Given the description of an element on the screen output the (x, y) to click on. 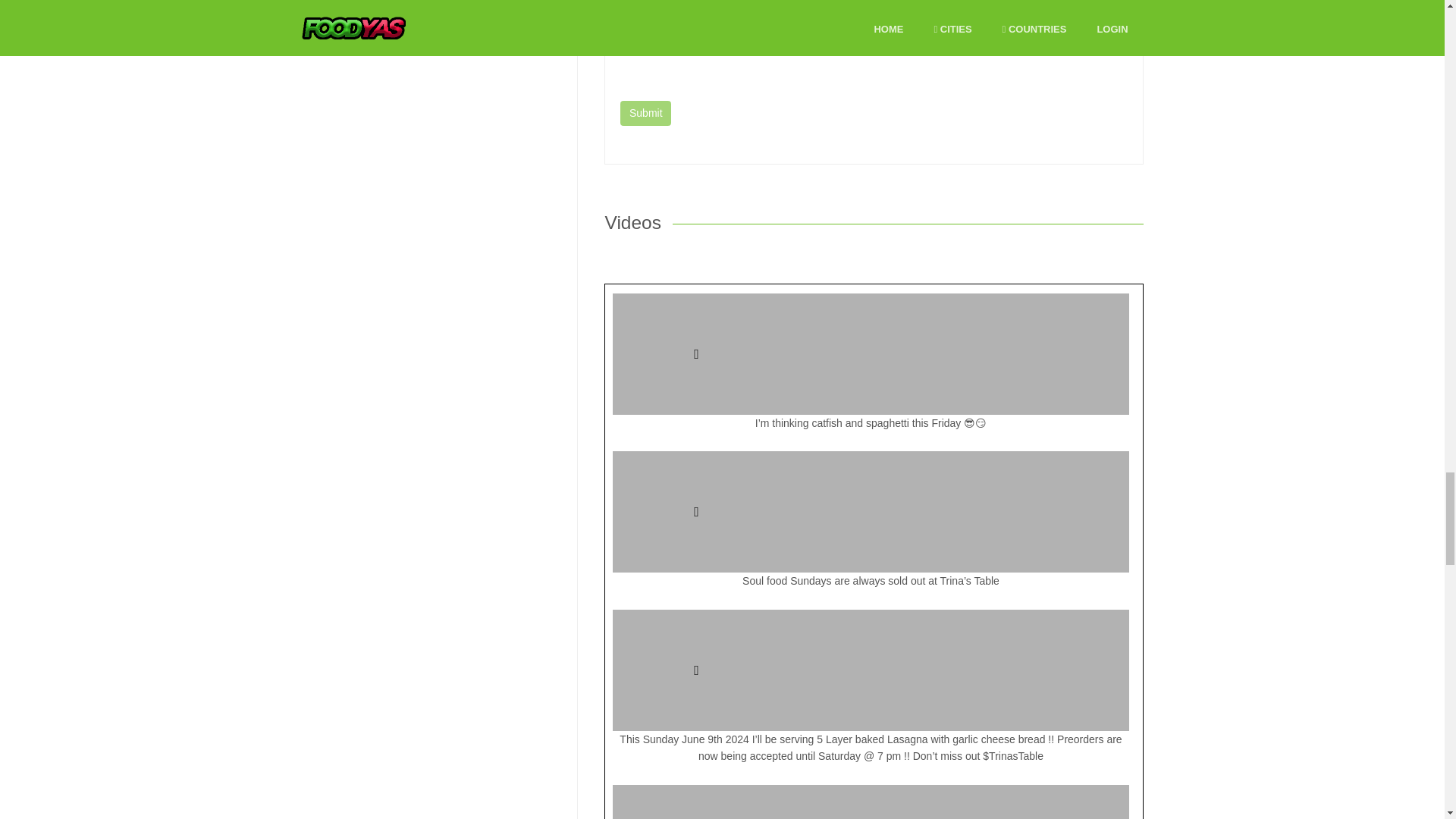
Submit (645, 113)
Submit (645, 113)
